Given the description of an element on the screen output the (x, y) to click on. 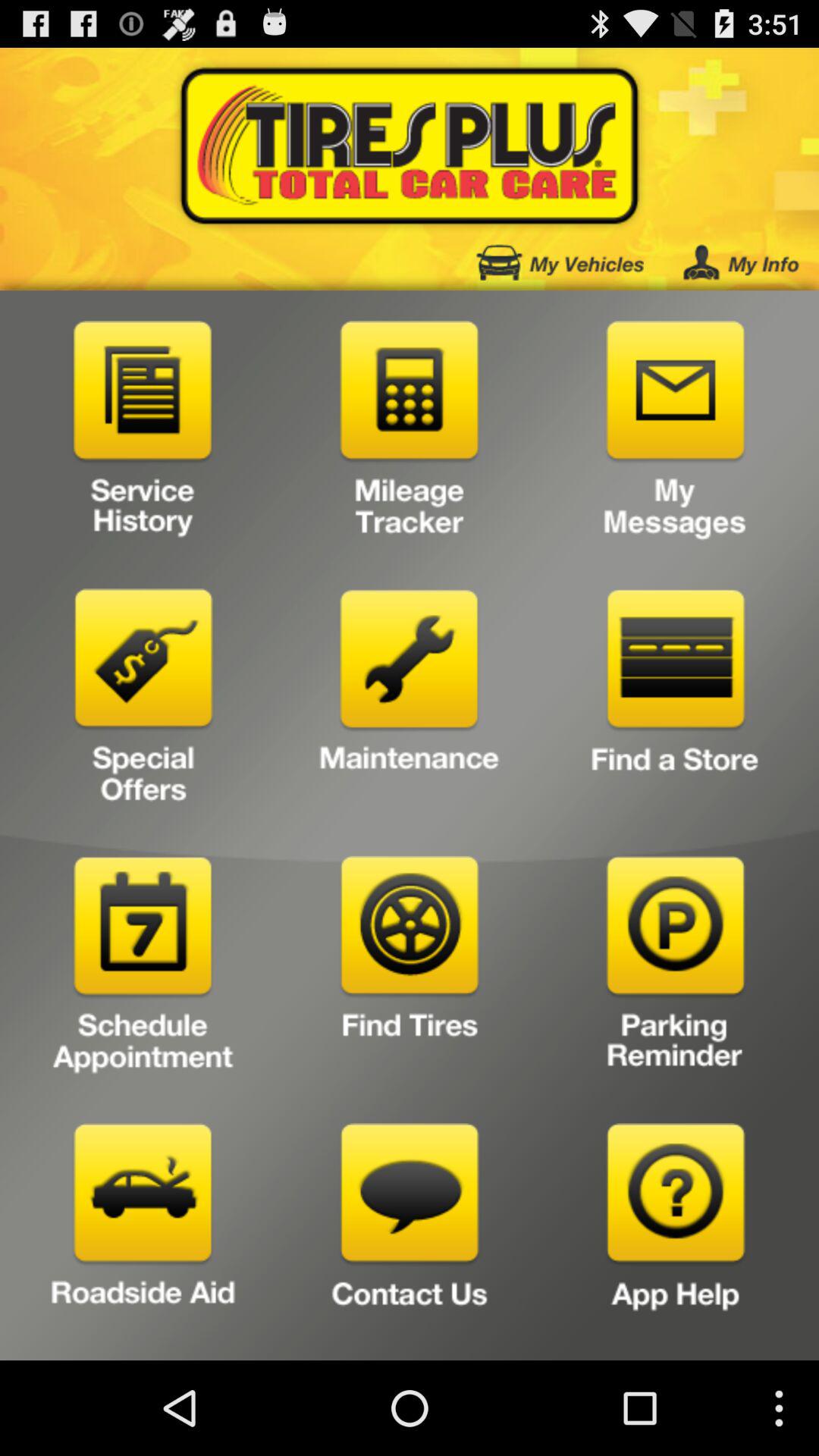
app helper option (675, 1236)
